Given the description of an element on the screen output the (x, y) to click on. 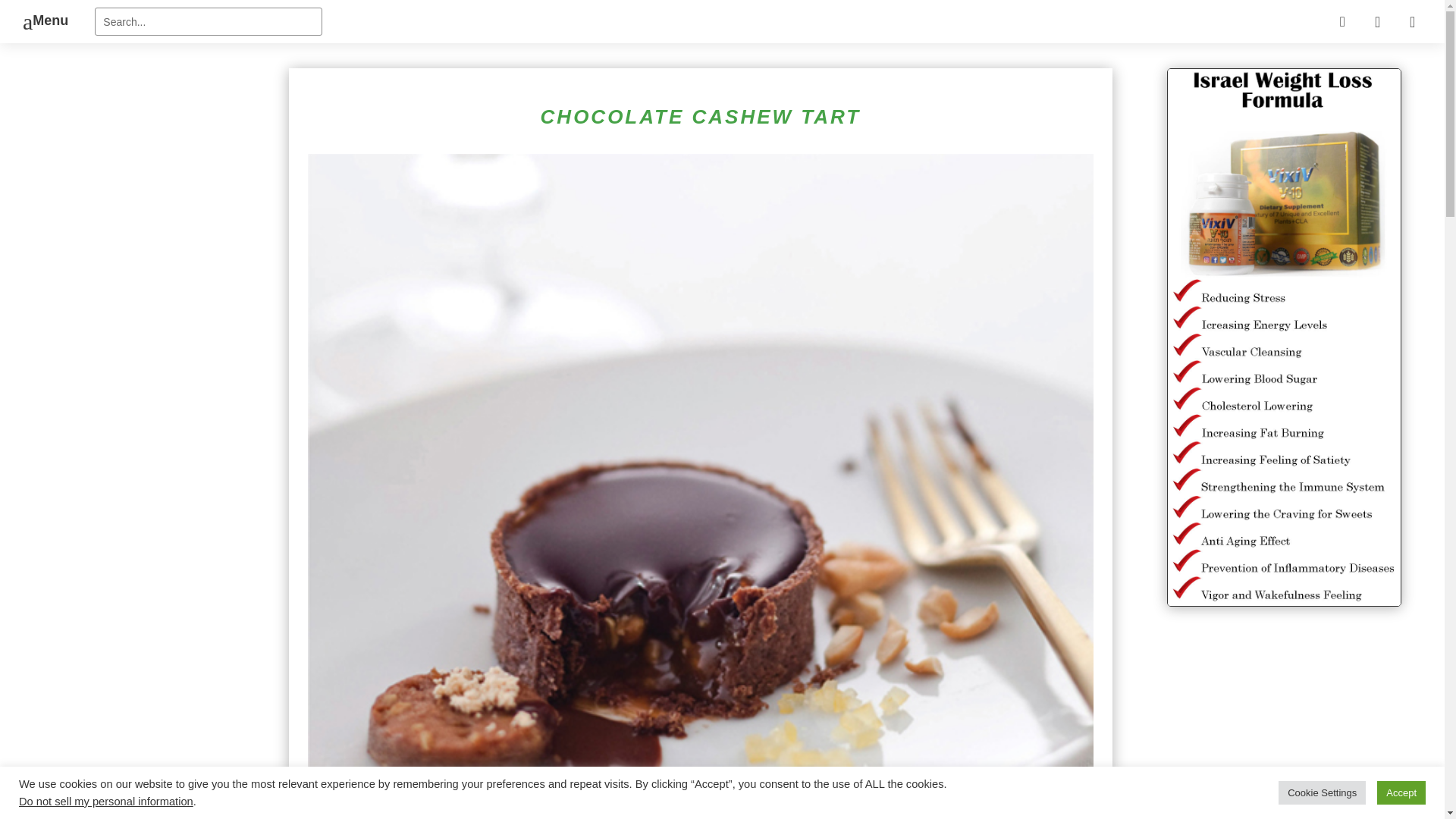
60-Vegetarian-Recipes-Cover-New (1020, 16)
Search (24, 13)
Side Dishes (423, 17)
Soups (423, 117)
Snacks (423, 63)
Follow on Facebook (973, 243)
Tofu (423, 225)
Follow on LinkedIn (1037, 243)
Sweets (423, 171)
Follow on Instagram (1069, 243)
